Given the description of an element on the screen output the (x, y) to click on. 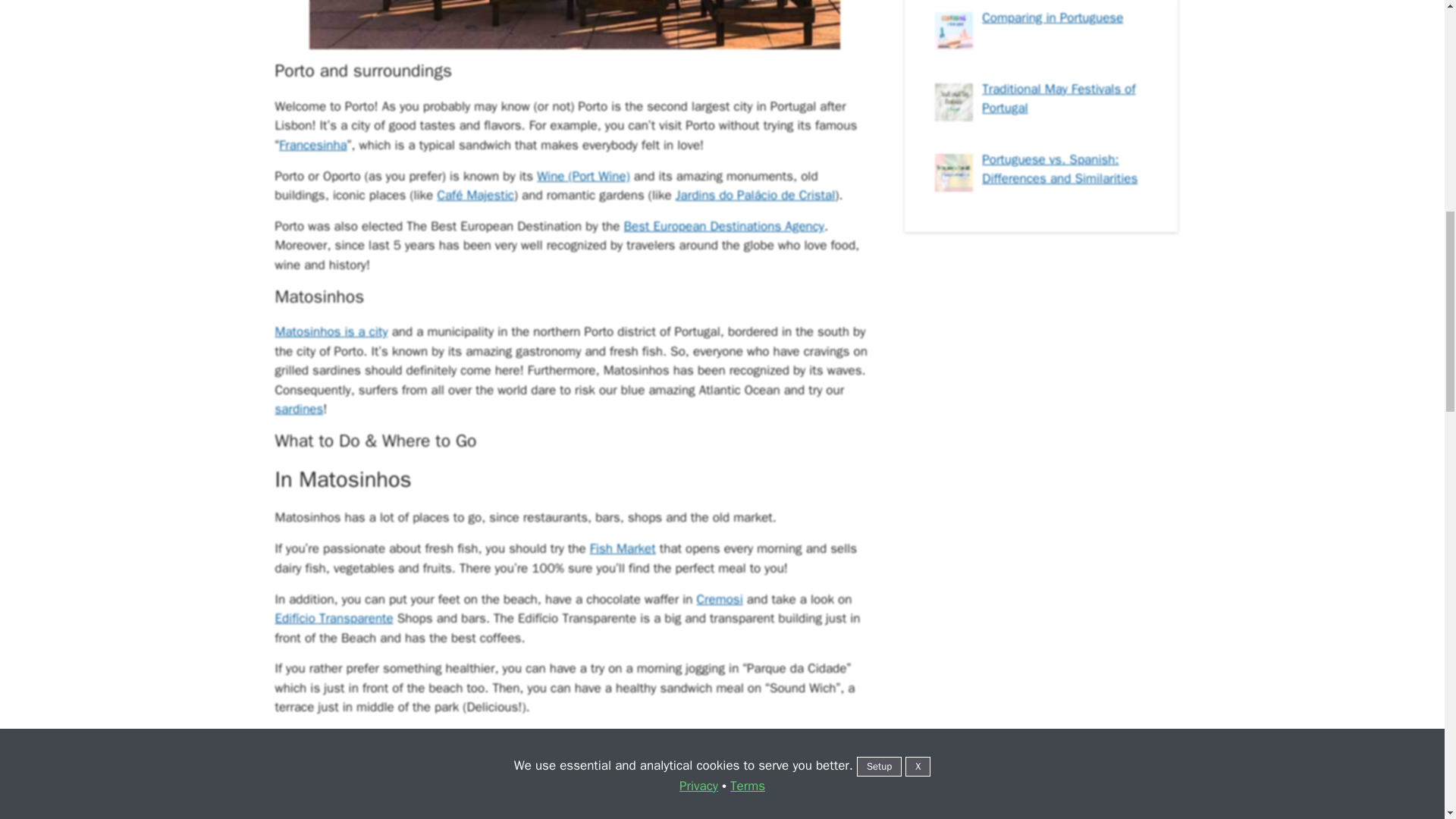
Best European Destinations Agency (724, 226)
Scroll back to top (1406, 720)
Fish Market (622, 548)
Cremosi (719, 599)
sardines (299, 408)
Matosinhos is a city (331, 331)
Learn to speak Portuguese in Porto (574, 24)
Francesinha (313, 145)
